Given the description of an element on the screen output the (x, y) to click on. 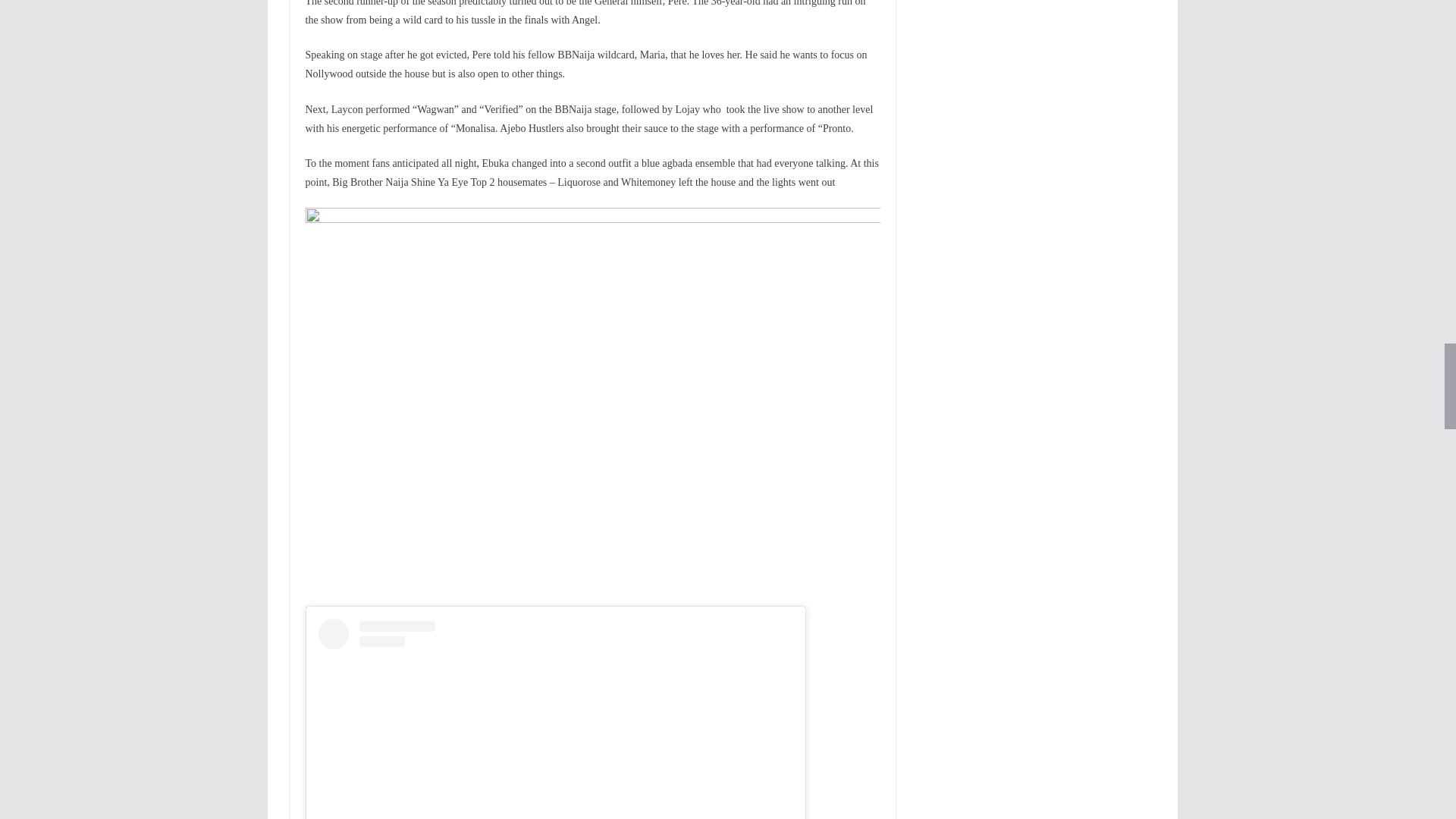
View this post on Instagram (555, 719)
